Given the description of an element on the screen output the (x, y) to click on. 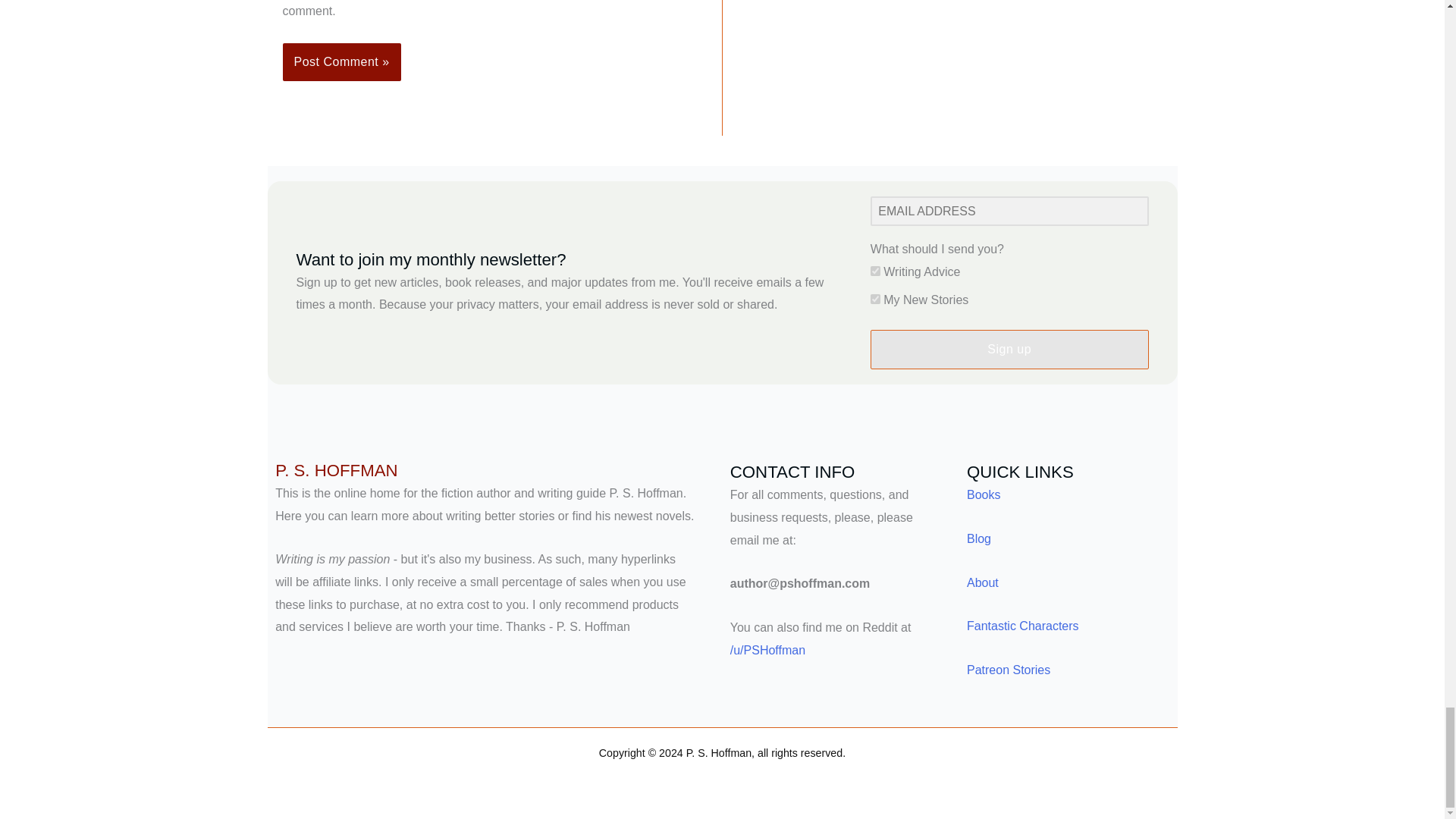
0e75c29d0a (875, 298)
6faf42e928 (875, 271)
